Given the description of an element on the screen output the (x, y) to click on. 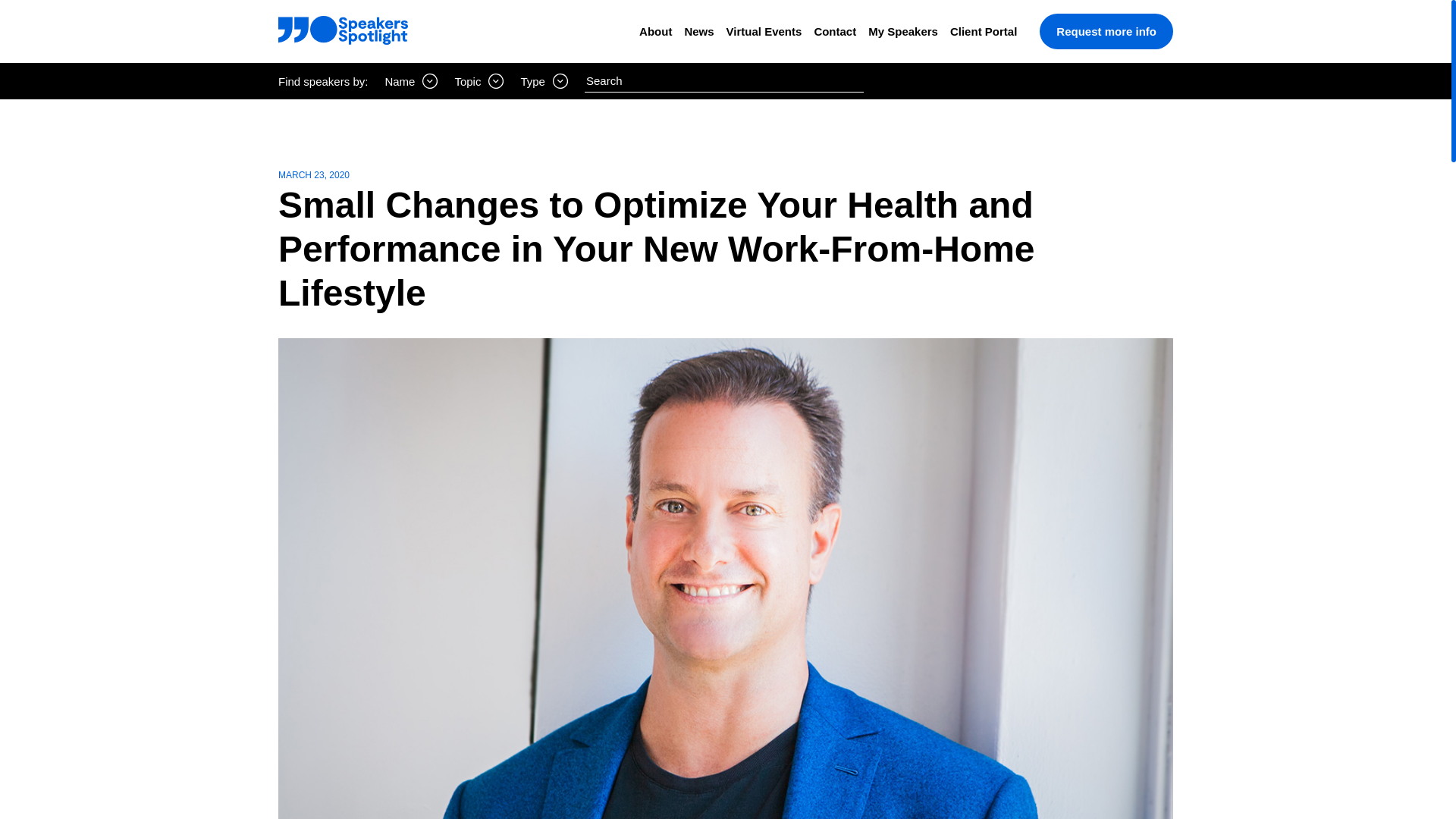
Name (411, 80)
Client Portal (983, 31)
Contact (834, 31)
Virtual Events (764, 31)
My Speakers (902, 31)
Request more info (1106, 31)
About (655, 31)
